Given the description of an element on the screen output the (x, y) to click on. 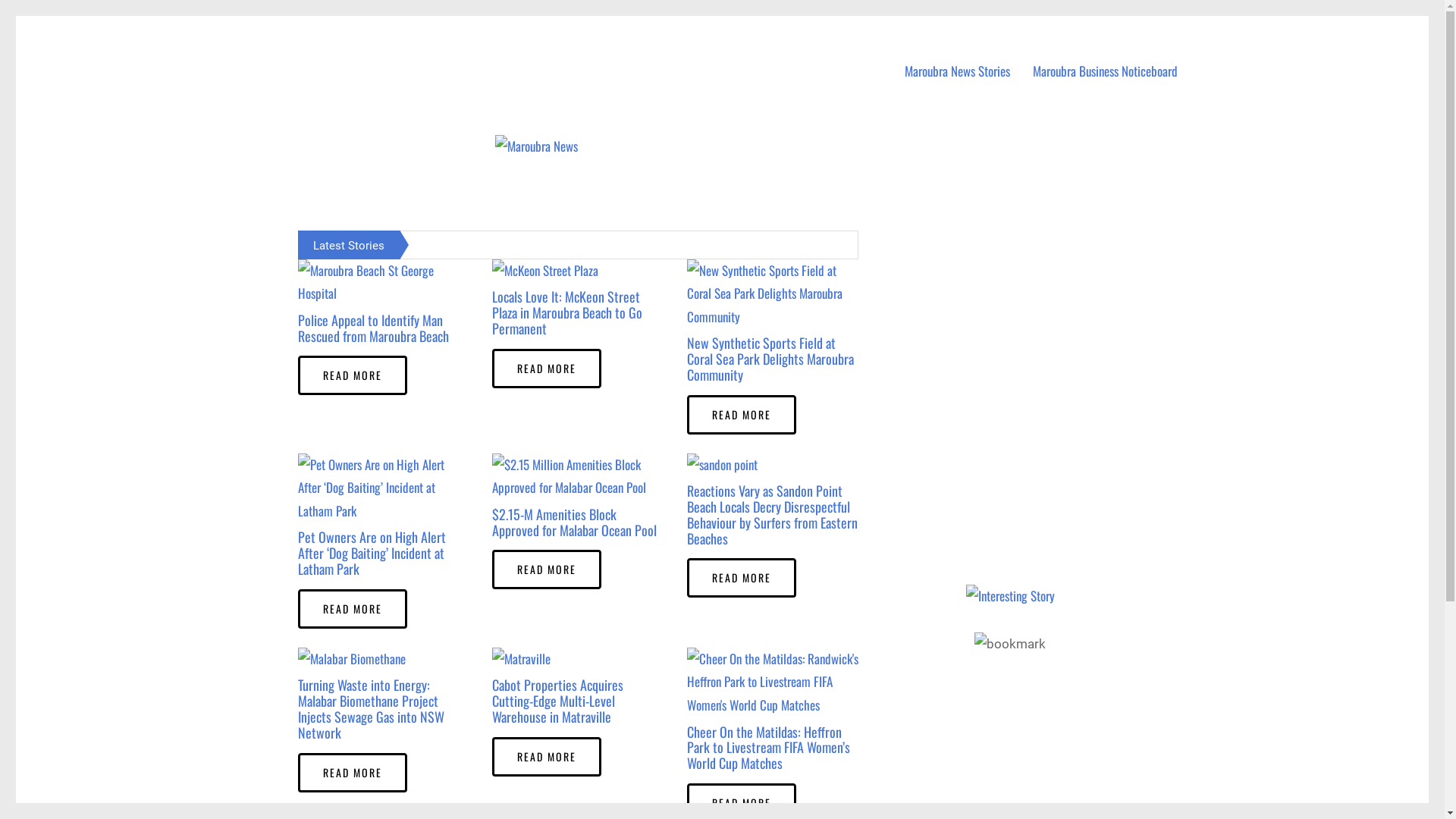
$2.15-M Amenities Block Approved for Malabar Ocean Pool Element type: text (369, 240)
$2.15-M Amenities Block Approved for Malabar Ocean Pool Element type: text (574, 521)
Maroubra News Stories Element type: text (957, 71)
Maroubra News Element type: text (324, 44)
READ MORE Element type: text (351, 772)
READ MORE Element type: text (546, 368)
READ MORE Element type: text (351, 608)
READ MORE Element type: text (741, 414)
READ MORE Element type: text (546, 569)
READ MORE Element type: text (351, 375)
READ MORE Element type: text (546, 756)
READ MORE Element type: text (741, 577)
Police Appeal to Identify Man Rescued from Maroubra Beach Element type: text (372, 327)
Maroubra Business Noticeboard Element type: text (1105, 71)
